Given the description of an element on the screen output the (x, y) to click on. 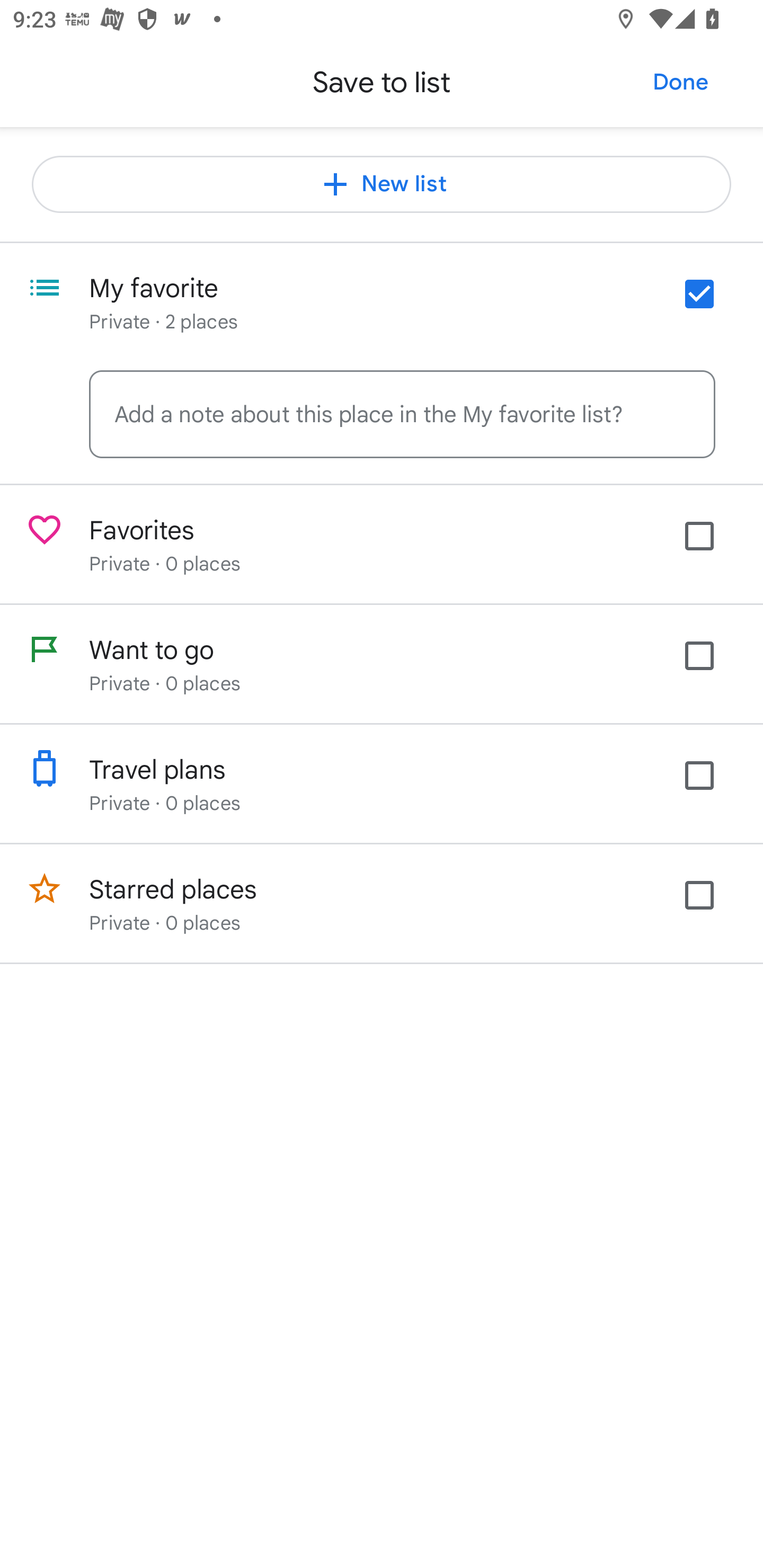
Done (680, 81)
New list (381, 183)
